Given the description of an element on the screen output the (x, y) to click on. 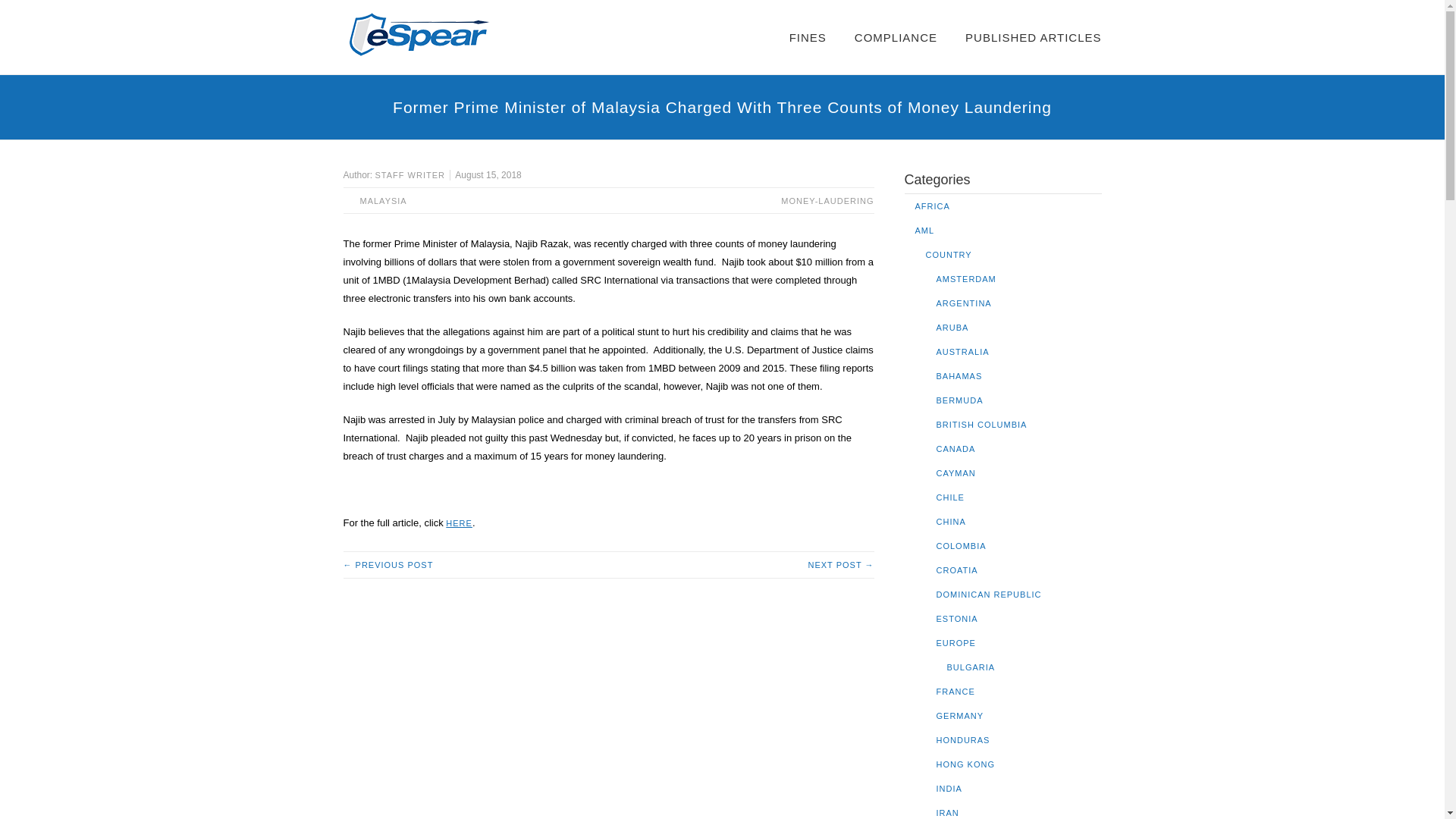
INDIA (948, 788)
AUSTRALIA (962, 351)
CANADA (955, 448)
Deutsche Bank Faces Money Laundering Challenges (840, 564)
AML (924, 230)
COMPLIANCE (895, 38)
PUBLISHED ARTICLES (1032, 38)
ARGENTINA (963, 302)
CAYMAN (955, 472)
IRAN (947, 812)
